Given the description of an element on the screen output the (x, y) to click on. 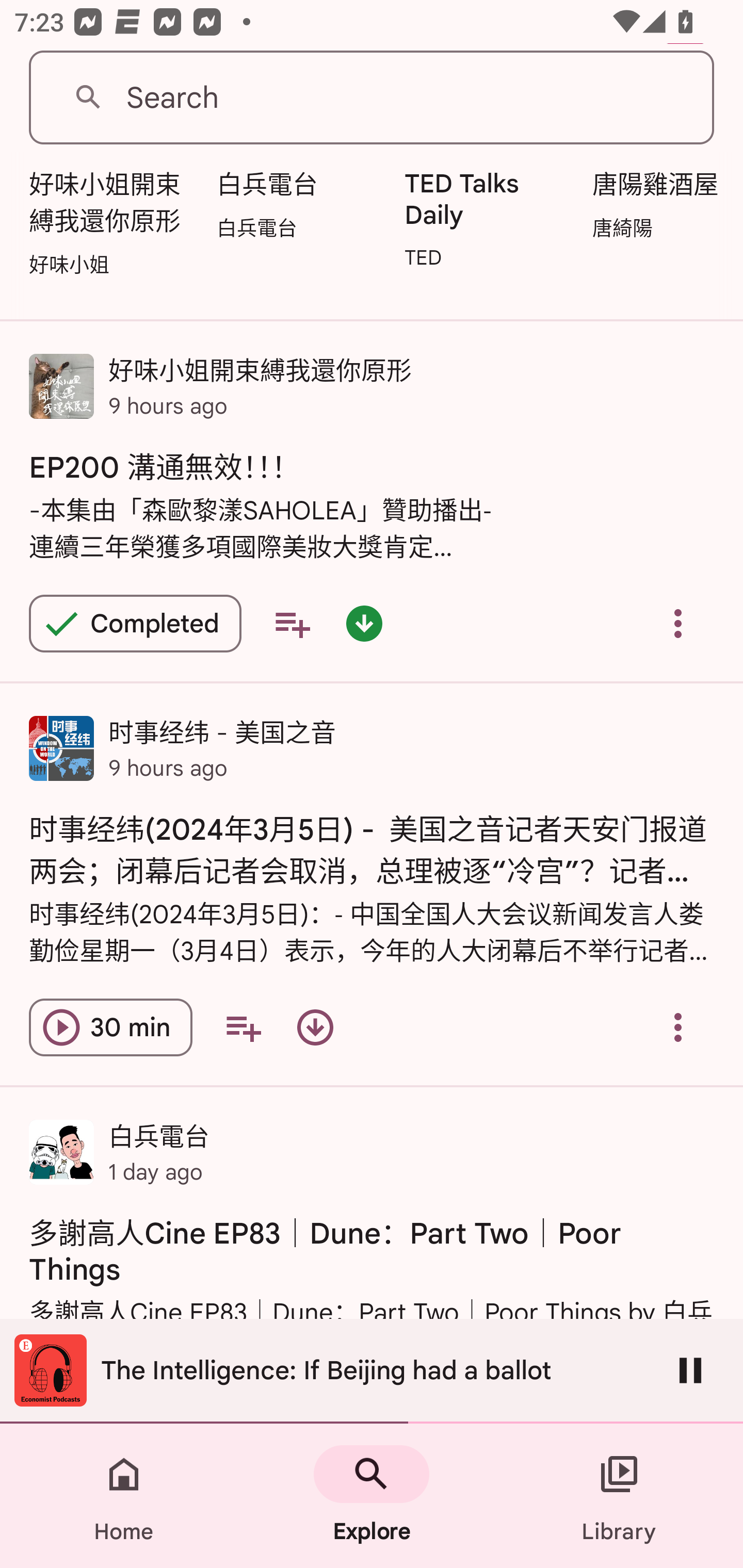
Search (371, 97)
好味小姐開束縛我還你原形 好味小姐 (111, 221)
白兵電台 (299, 203)
TED Talks Daily TED (487, 217)
唐陽雞酒屋 唐綺陽 (662, 203)
Play episode EP200 溝通無效！！！ Completed (134, 623)
Add to your queue (291, 623)
Episode downloaded - double tap for options (364, 623)
Overflow menu (677, 623)
Add to your queue (242, 1027)
Download episode (315, 1027)
Overflow menu (677, 1027)
Pause (690, 1370)
Home (123, 1495)
Library (619, 1495)
